Given the description of an element on the screen output the (x, y) to click on. 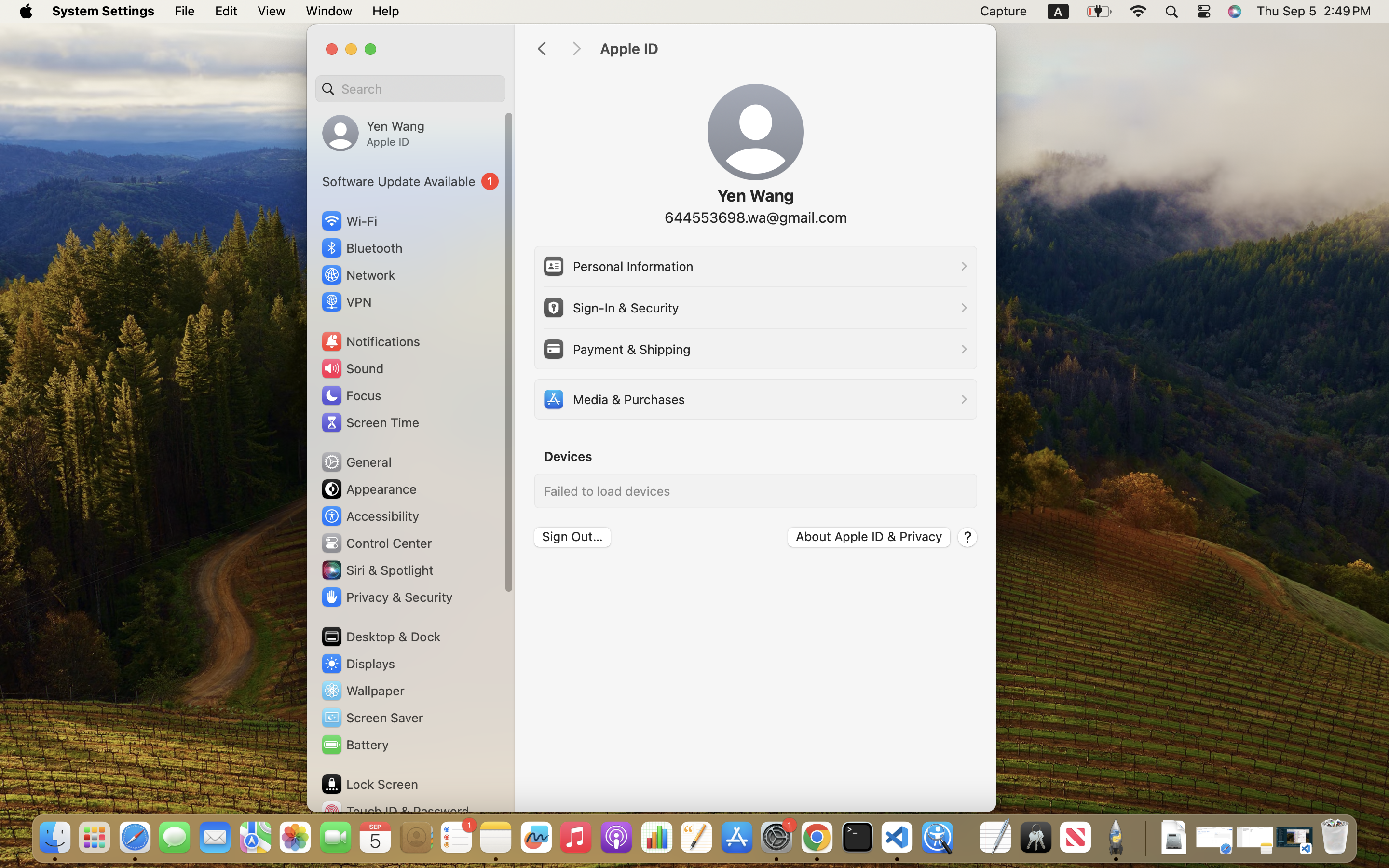
1 Element type: AXStaticText (410, 180)
Wi‑Fi Element type: AXStaticText (348, 220)
Focus Element type: AXStaticText (350, 394)
Displays Element type: AXStaticText (357, 663)
0.4285714328289032 Element type: AXDockItem (965, 837)
